Given the description of an element on the screen output the (x, y) to click on. 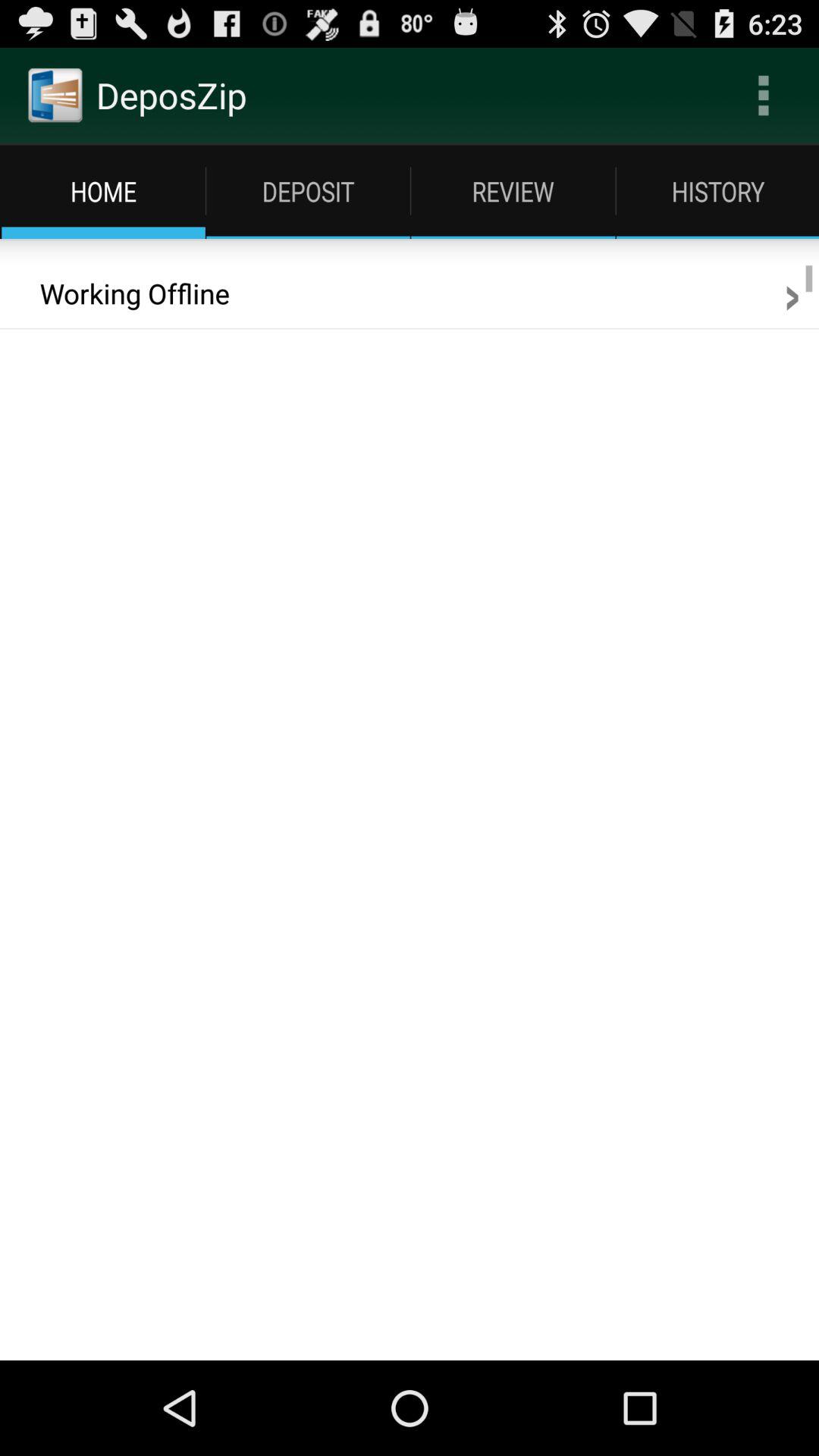
swipe to the working offline icon (124, 293)
